Given the description of an element on the screen output the (x, y) to click on. 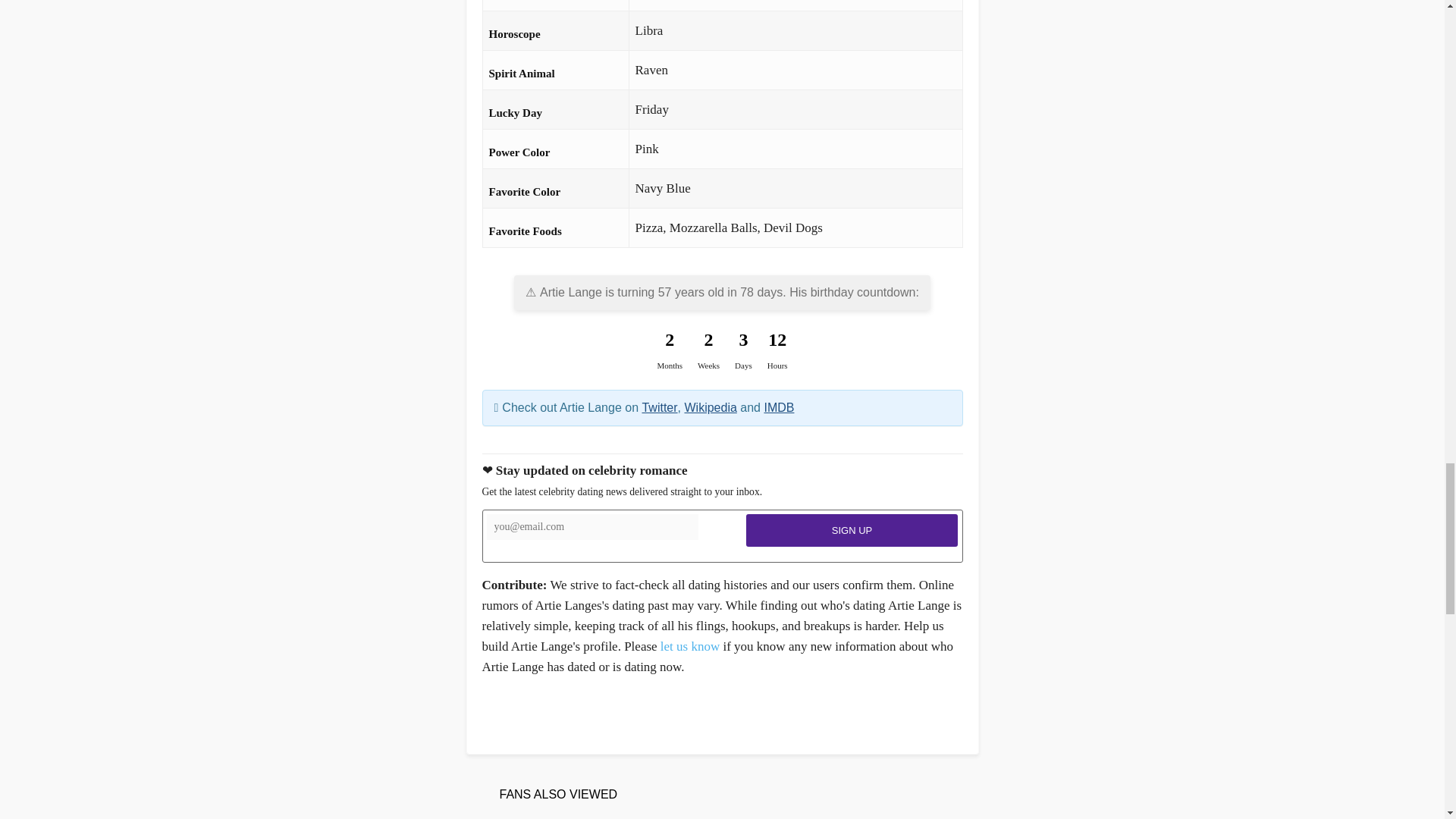
Wikipedia (710, 407)
SIGN UP (851, 530)
IMDB (777, 407)
let us know (690, 646)
SIGN UP (851, 530)
Twitter (659, 407)
